Given the description of an element on the screen output the (x, y) to click on. 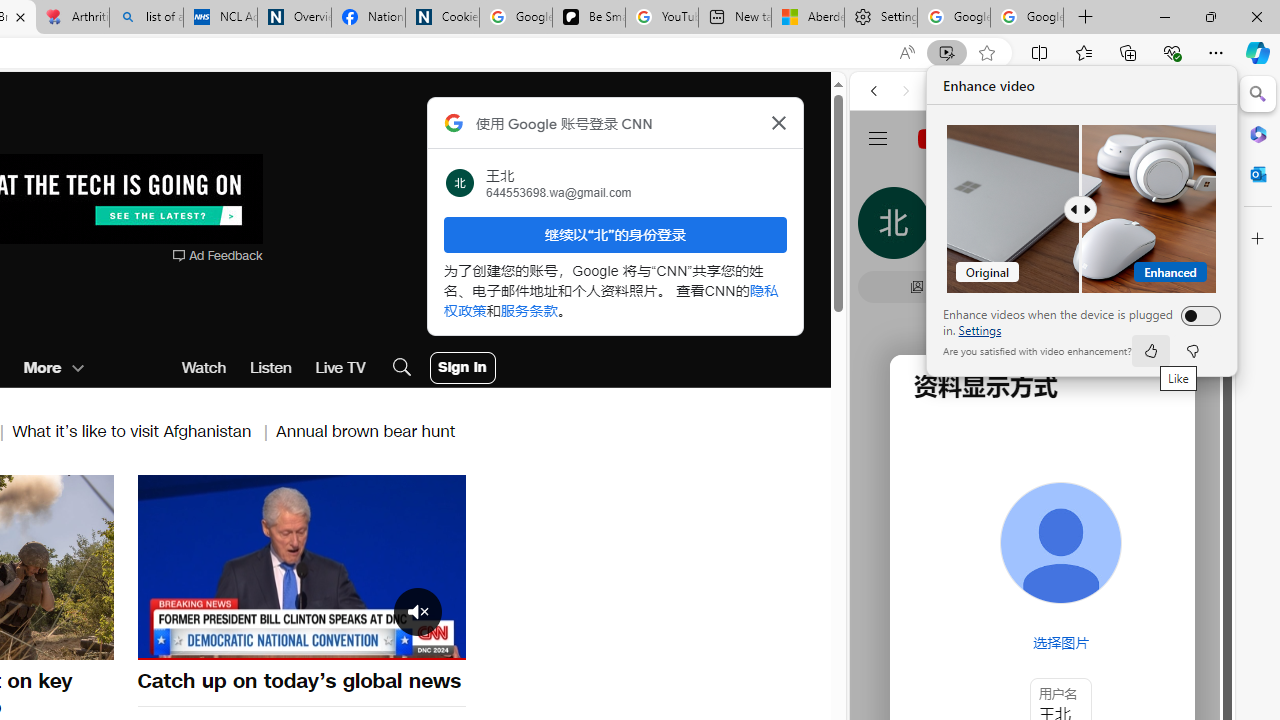
Forward 10 seconds (361, 565)
Enhance videos (1196, 316)
Watch (203, 367)
Web scope (882, 180)
Backward 10 seconds (241, 565)
NCL Adult Asthma Inhaler Choice Guideline (220, 17)
like (1150, 350)
Options (394, 642)
Global web icon (888, 288)
Fullscreen (438, 642)
